Given the description of an element on the screen output the (x, y) to click on. 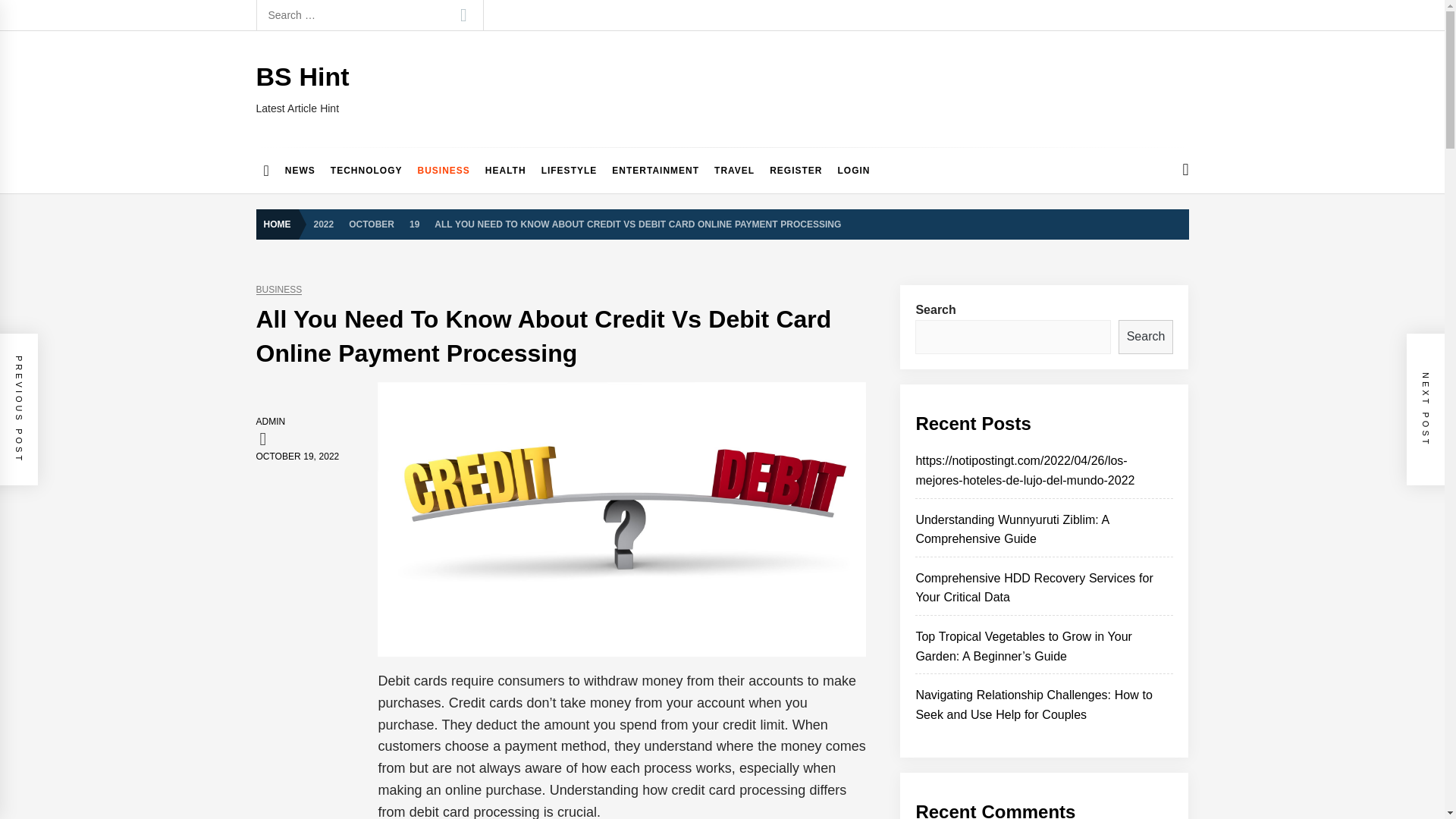
HOME (280, 224)
BUSINESS (279, 289)
ENTERTAINMENT (655, 170)
19 (413, 223)
Search (462, 15)
BUSINESS (443, 170)
REGISTER (795, 170)
NEWS (300, 170)
OCTOBER (370, 223)
LIFESTYLE (569, 170)
TECHNOLOGY (366, 170)
LOGIN (853, 170)
BS Hint (302, 76)
Search (462, 15)
